Given the description of an element on the screen output the (x, y) to click on. 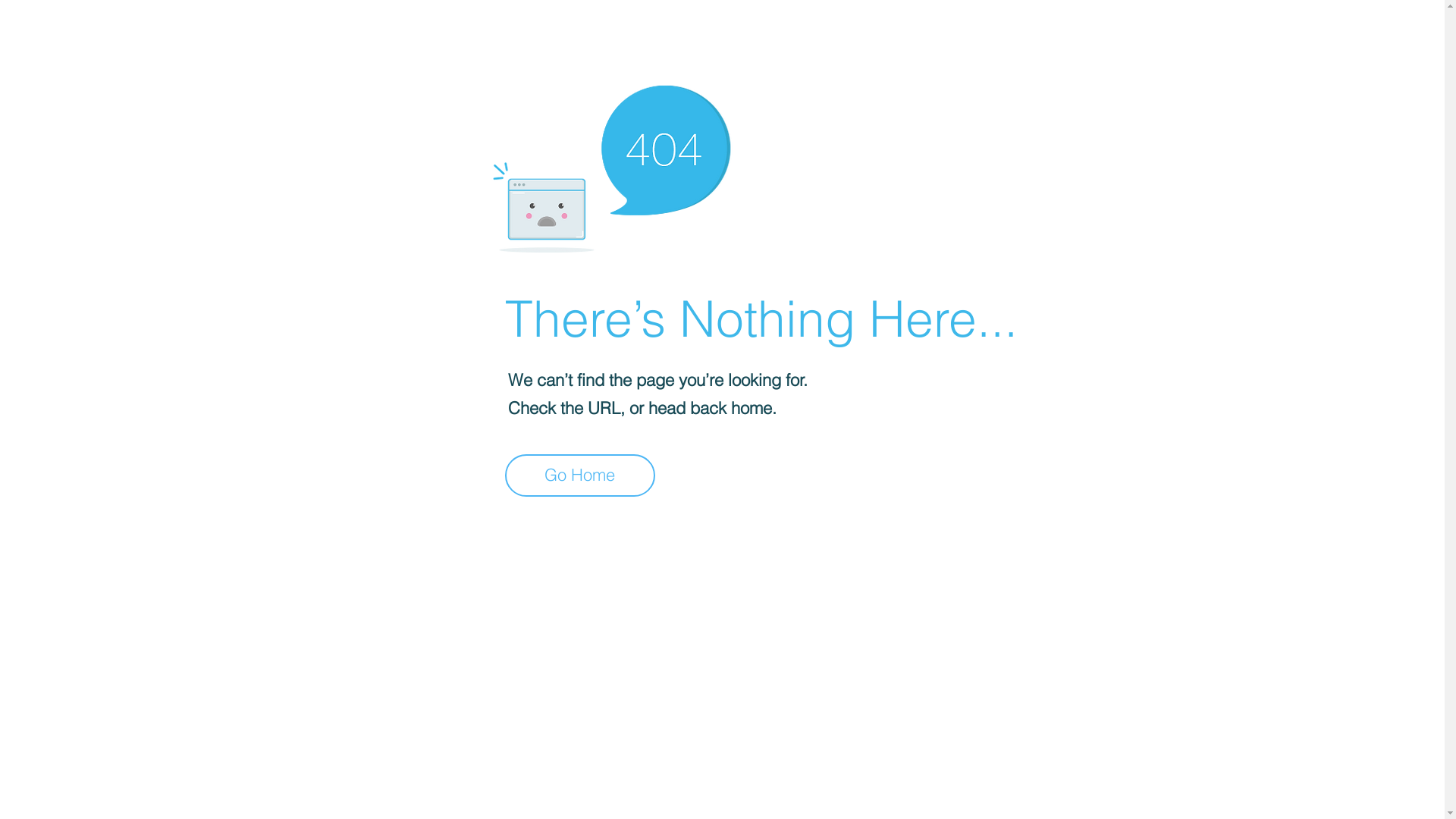
404-icon_2.png Element type: hover (610, 164)
Go Home Element type: text (580, 475)
